Given the description of an element on the screen output the (x, y) to click on. 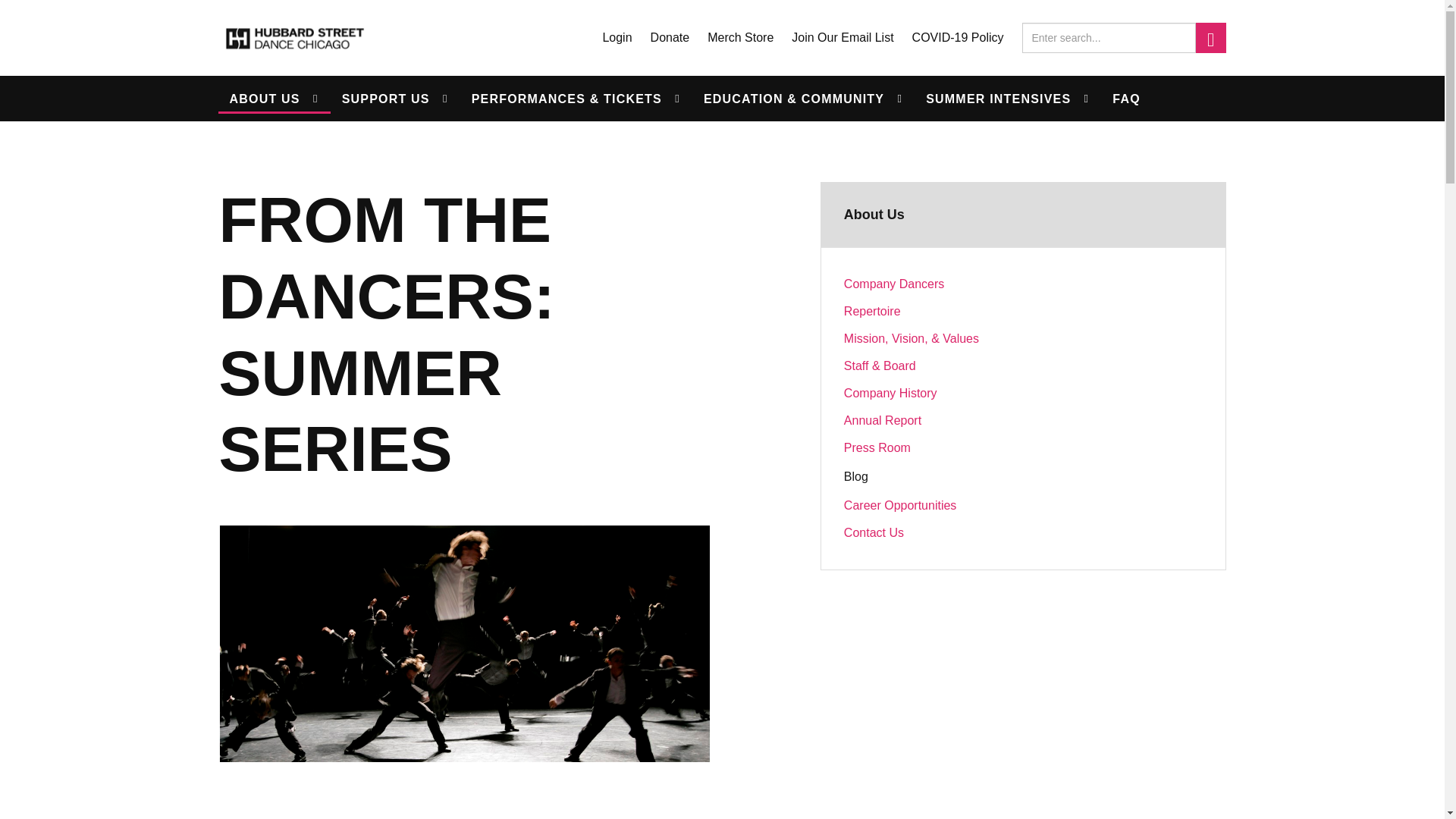
SUPPORT US (395, 98)
ABOUT US (274, 98)
Hubbard Street Dance Chicago (293, 37)
SUMMER INTENSIVES (1007, 98)
